Given the description of an element on the screen output the (x, y) to click on. 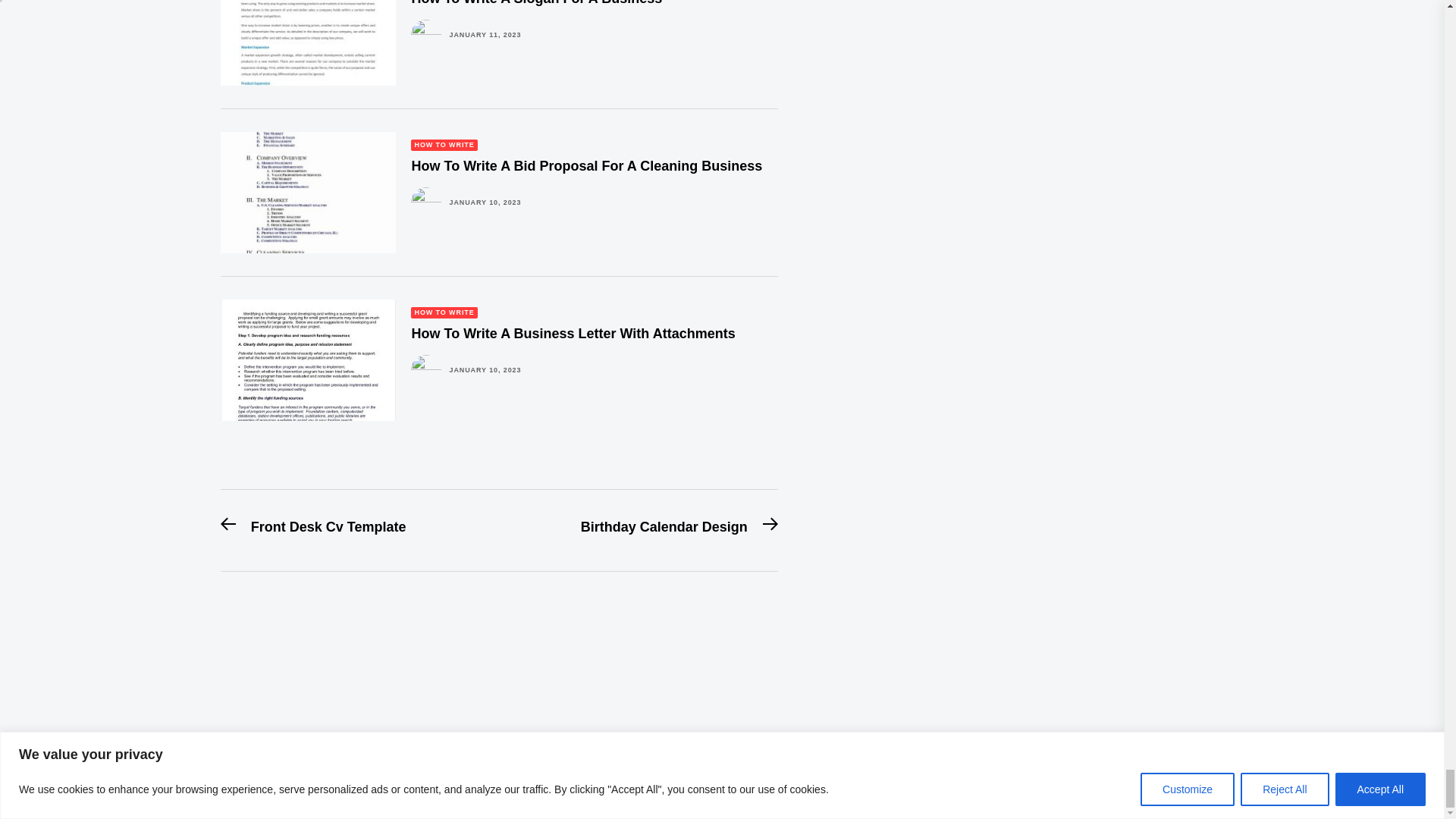
WordPress (366, 780)
Coverletterpedia (225, 762)
Themeinwp (249, 780)
